Given the description of an element on the screen output the (x, y) to click on. 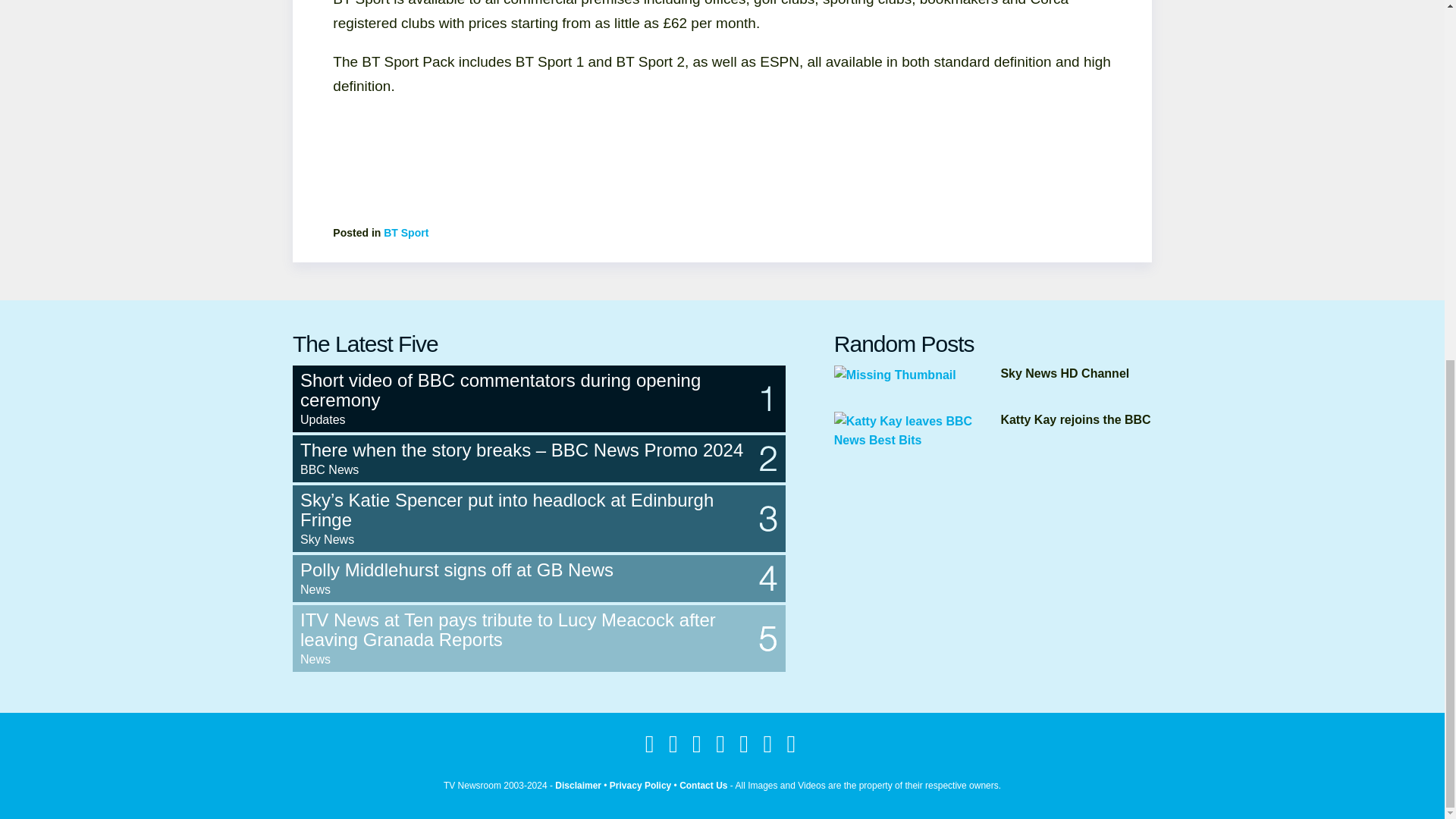
Katty Kay leaves BBC News Best Bits (917, 430)
